Given the description of an element on the screen output the (x, y) to click on. 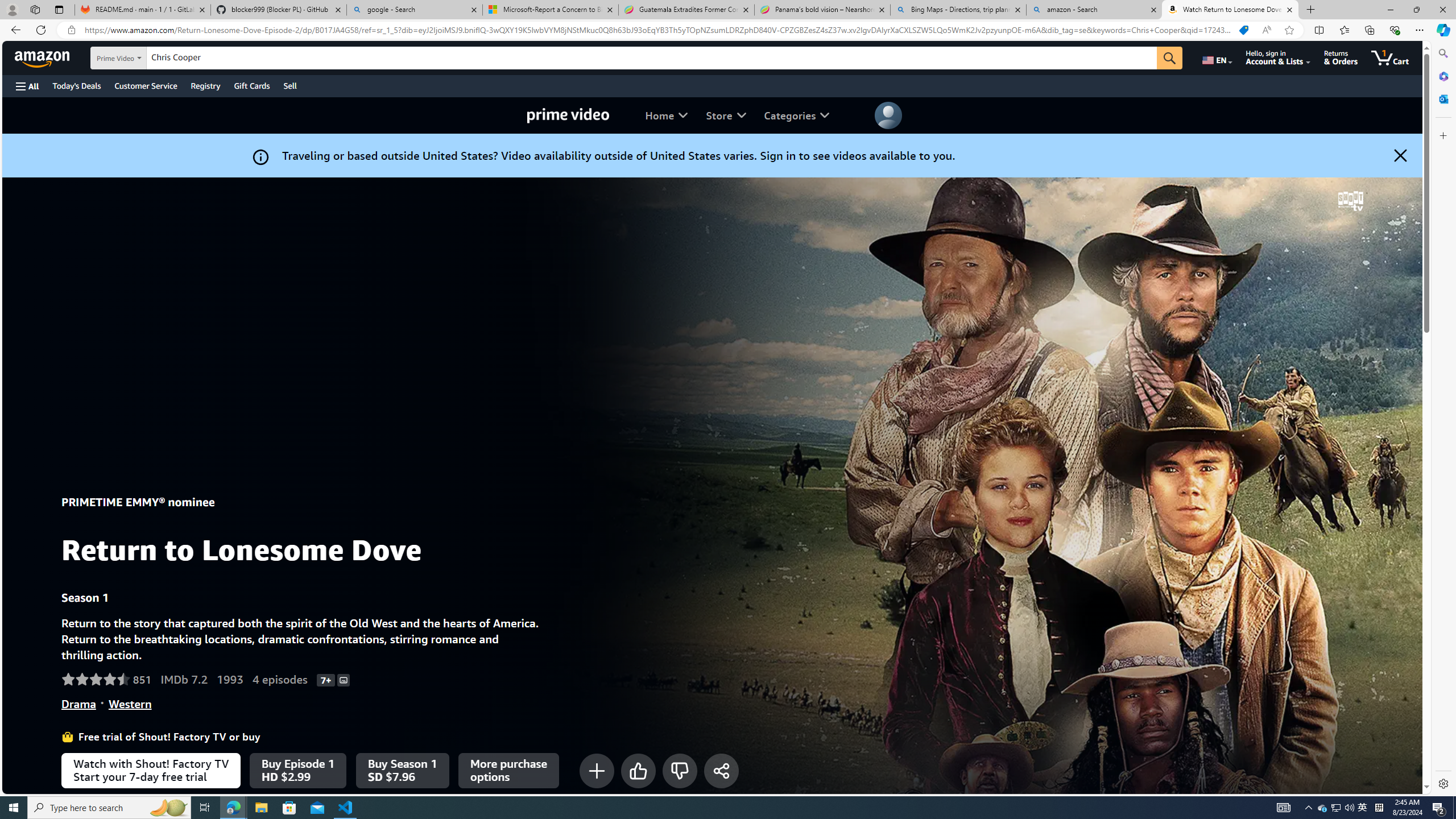
Today's Deals (76, 85)
Store (726, 115)
Not for me (679, 769)
Go (1169, 57)
Microsoft-Report a Concern to Bing (550, 9)
Customer Service (145, 85)
Categories (796, 115)
Home (666, 115)
Channel logo (1350, 200)
